Given the description of an element on the screen output the (x, y) to click on. 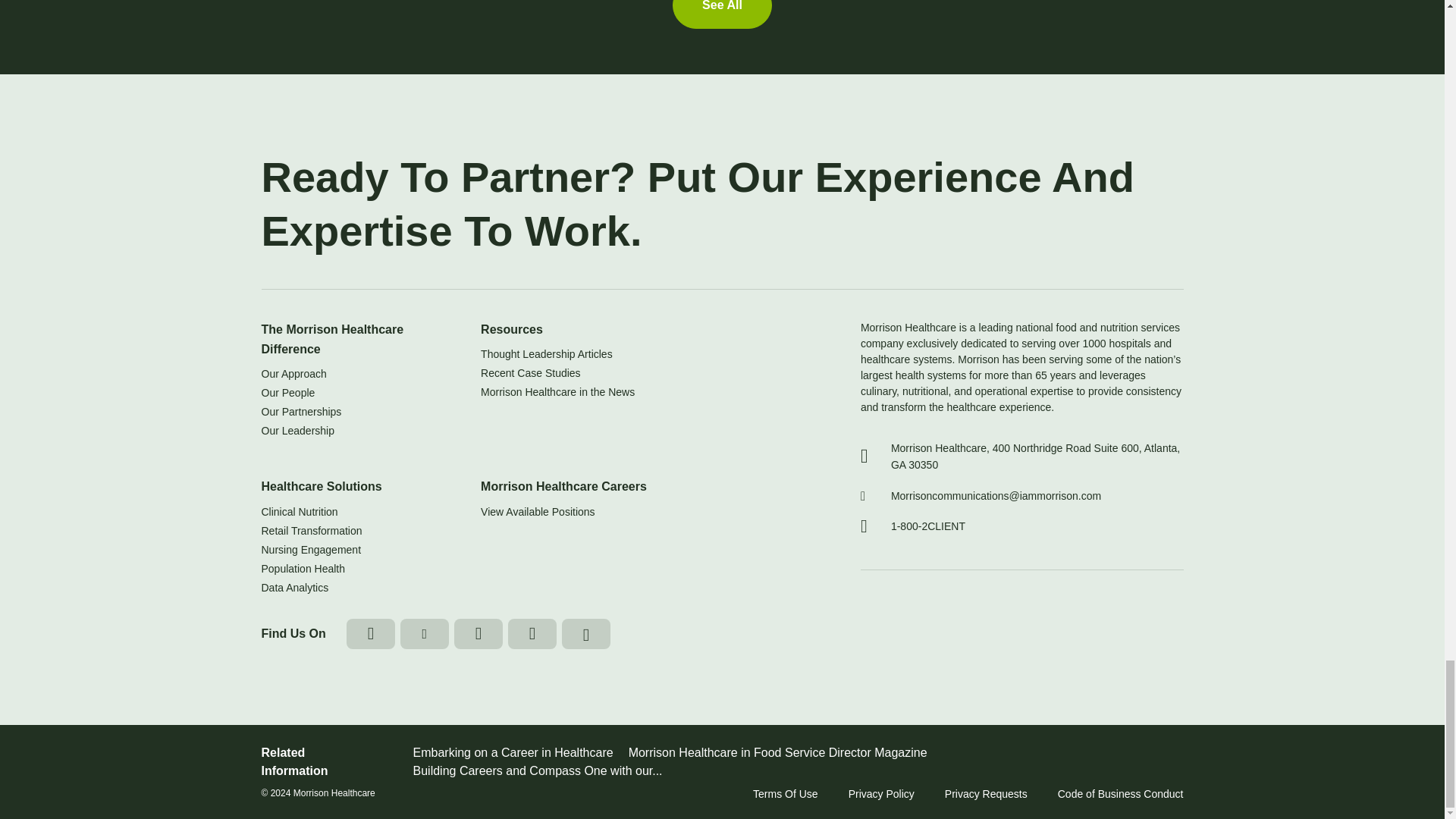
See All (721, 14)
The Morrison Healthcare Difference (358, 339)
Our Approach (358, 373)
